Given the description of an element on the screen output the (x, y) to click on. 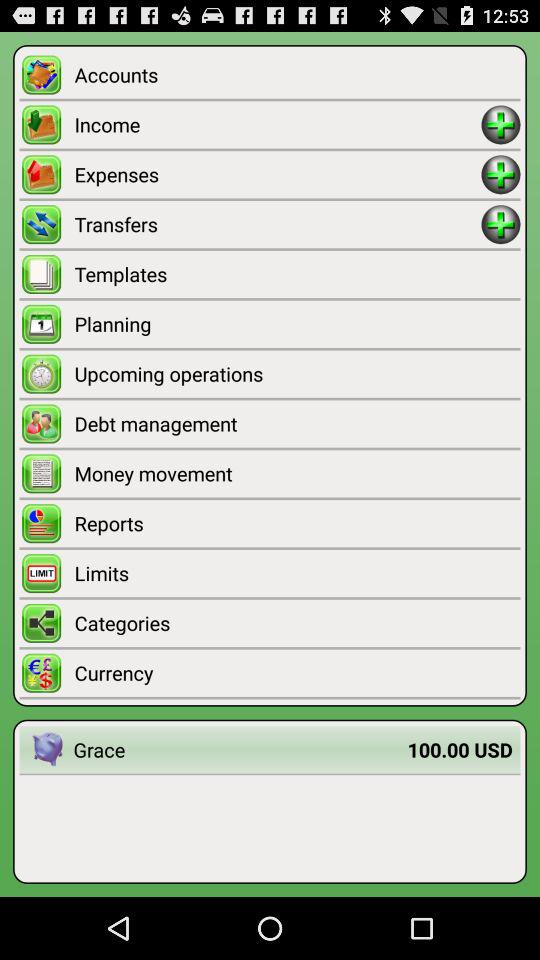
jump until the money movement (297, 473)
